Given the description of an element on the screen output the (x, y) to click on. 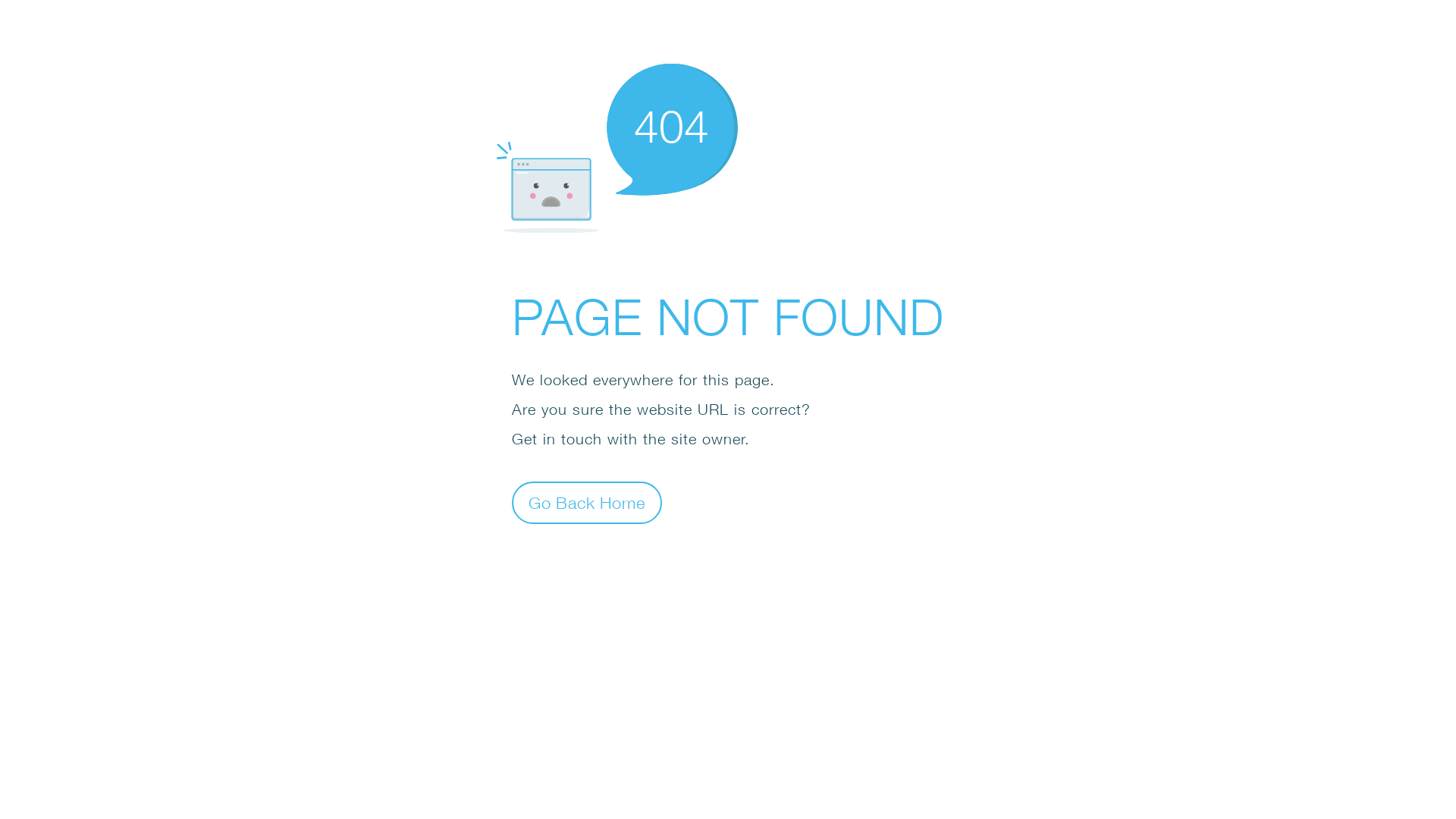
Go Back Home Element type: text (586, 502)
